Given the description of an element on the screen output the (x, y) to click on. 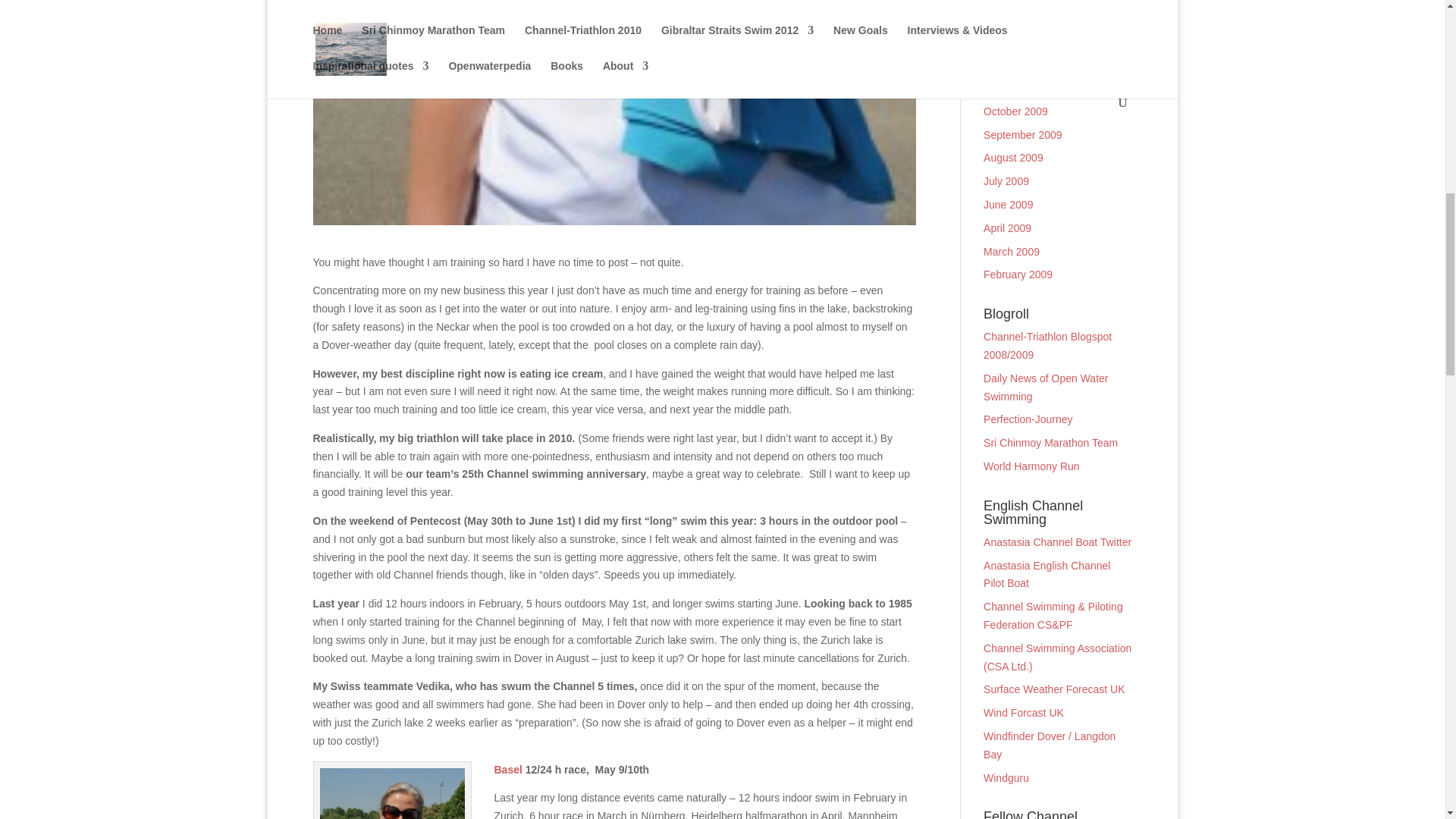
My first Channel-Triathlon attempt (1048, 345)
the newer association (1053, 615)
Windguru Dover (1006, 777)
Basel (508, 769)
Shows the pressure zones in the Channel area (1054, 689)
